Given the description of an element on the screen output the (x, y) to click on. 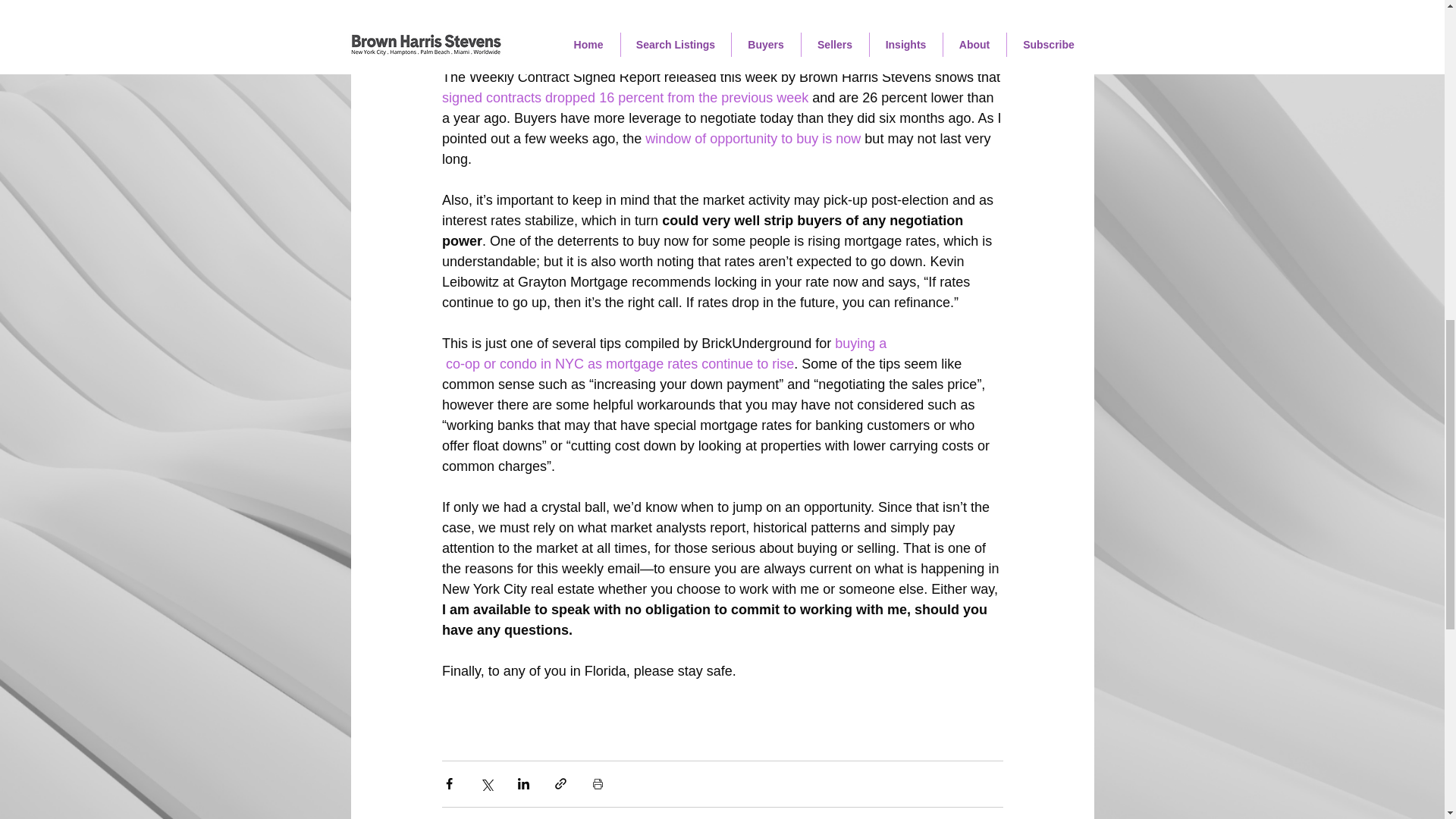
buying a (860, 343)
signed contracts dropped 16 percent from the previous week (624, 97)
 co-op or condo in NYC as mortgage rates continue to rise (617, 363)
window of opportunity to buy is now (752, 138)
